Given the description of an element on the screen output the (x, y) to click on. 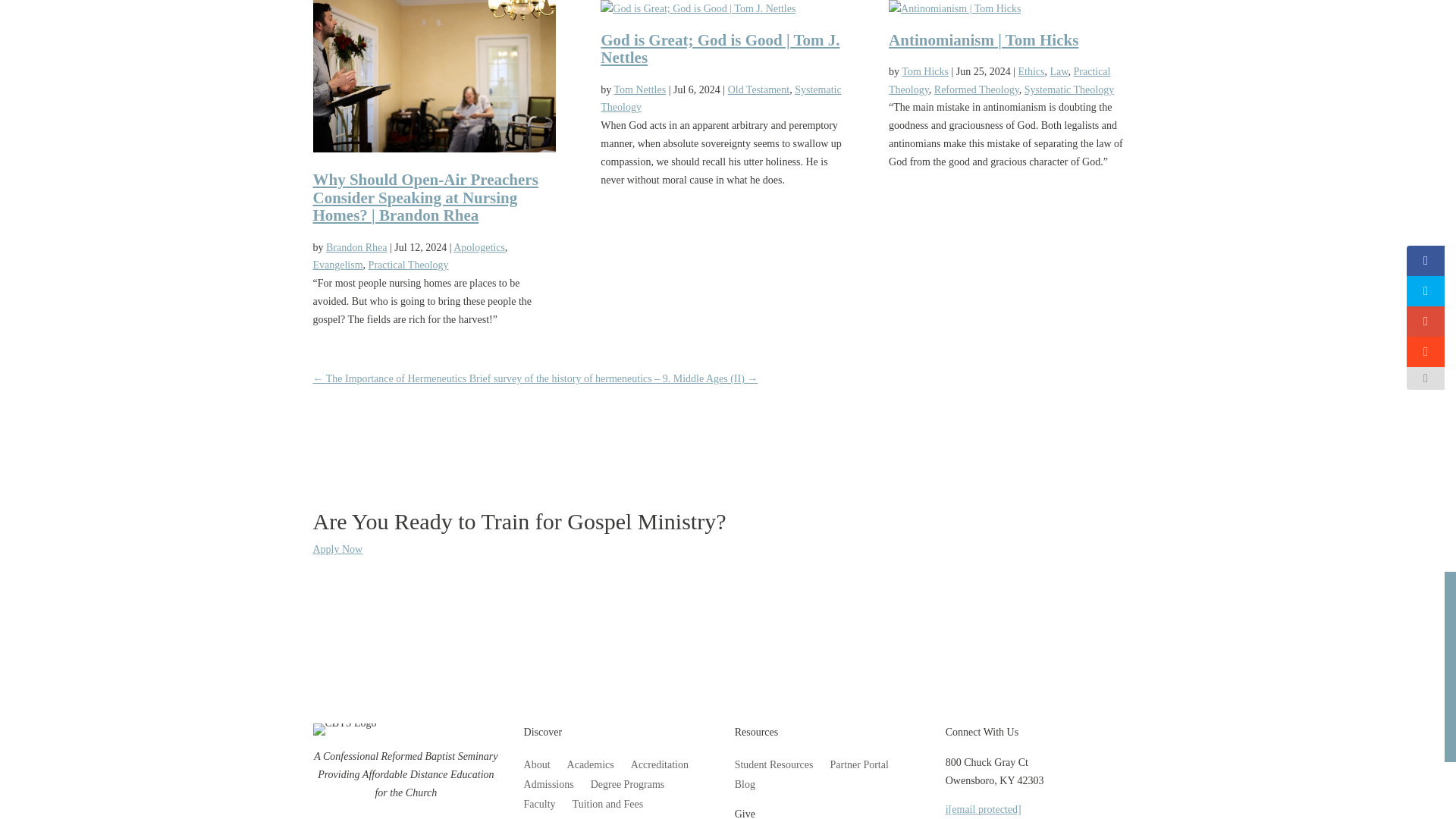
Posts by Tom Nettles (640, 89)
Posts by Brandon Rhea (356, 247)
